Given the description of an element on the screen output the (x, y) to click on. 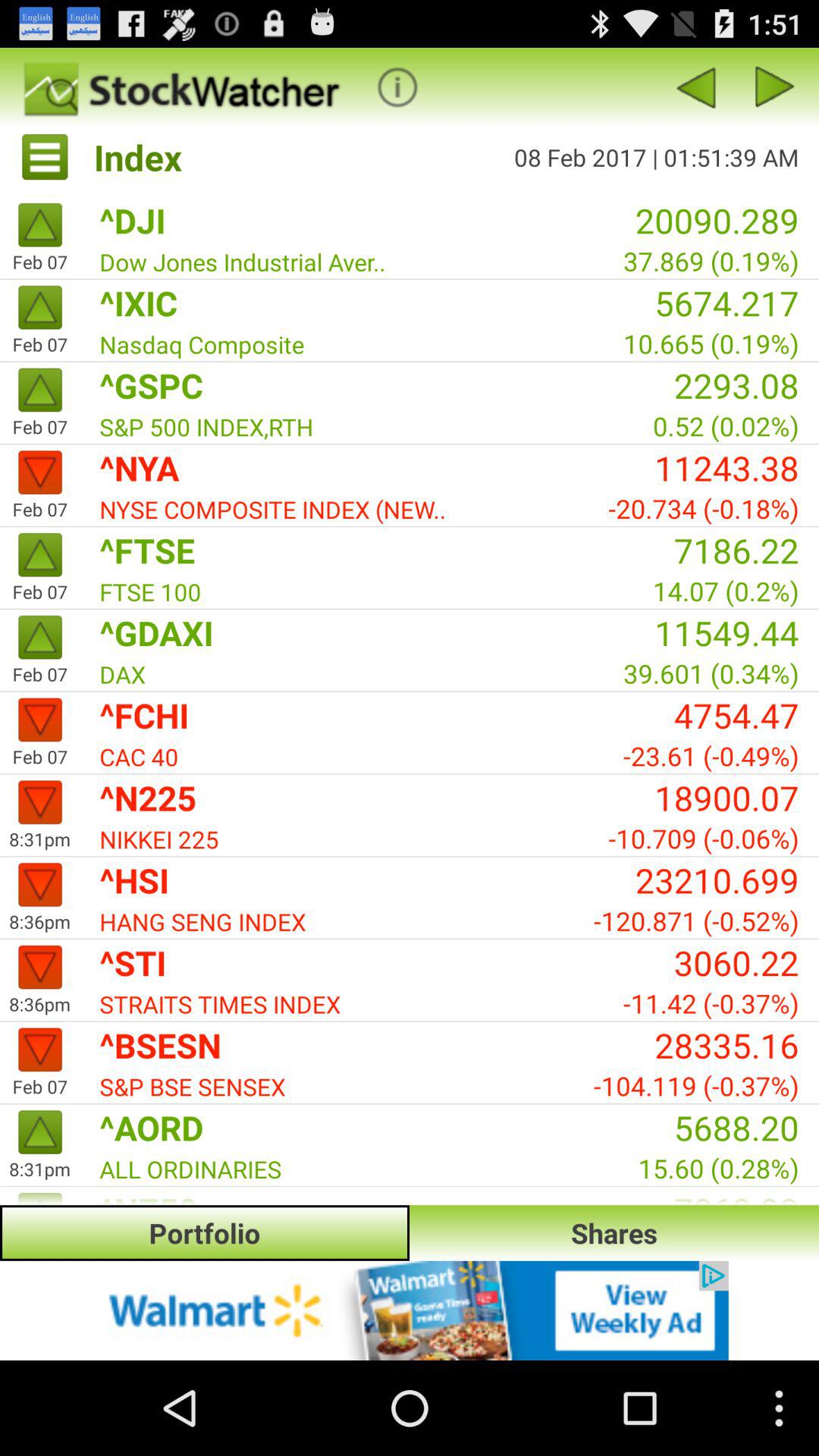
go back button (775, 87)
